Given the description of an element on the screen output the (x, y) to click on. 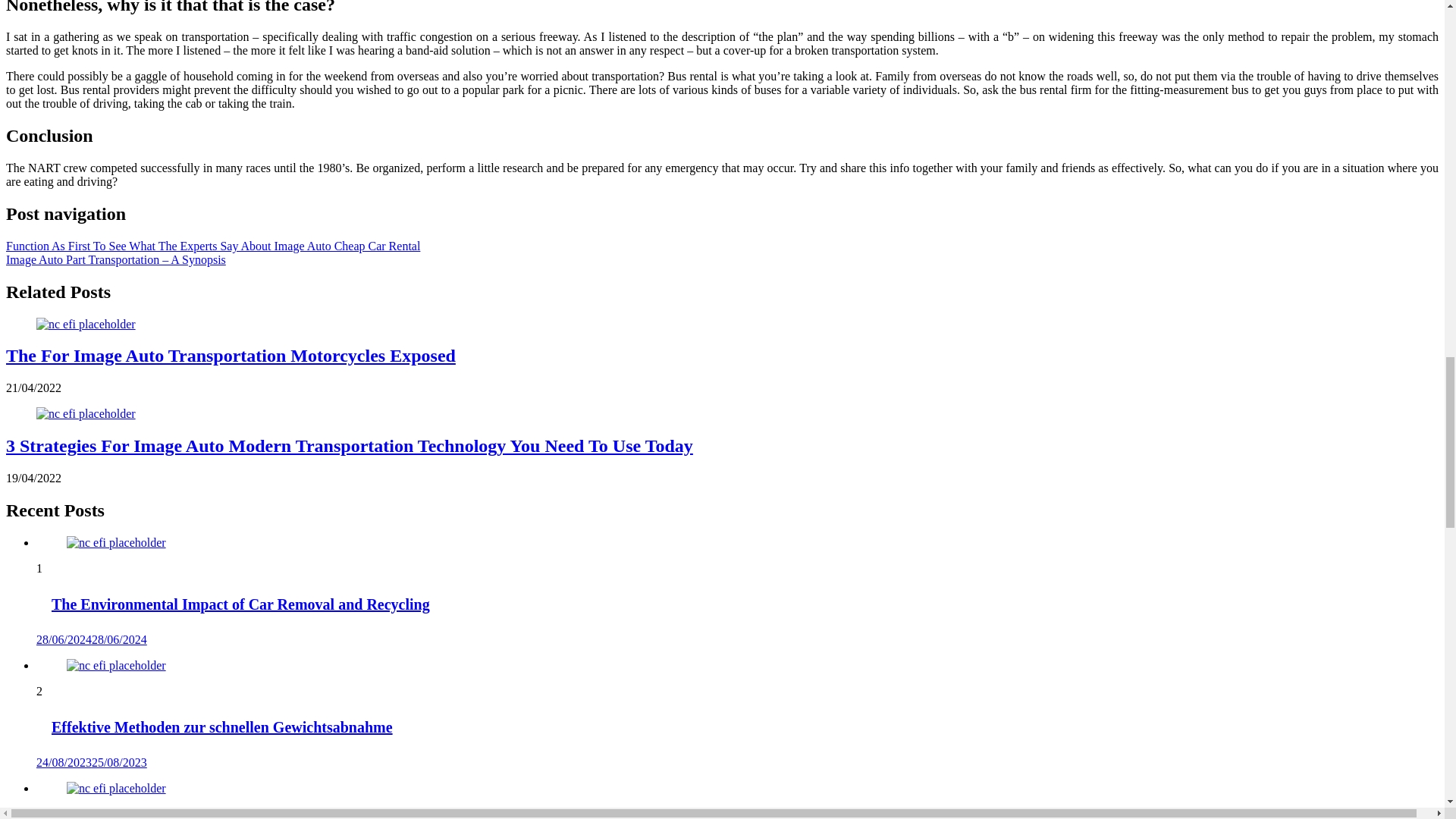
The For Image Auto Transportation Motorcycles Exposed (230, 355)
The Environmental Impact of Car Removal and Recycling (115, 542)
The For Image Auto Transportation Motorcycles Exposed (85, 323)
Effektive Methoden zur schnellen Gewichtsabnahme (115, 665)
